Given the description of an element on the screen output the (x, y) to click on. 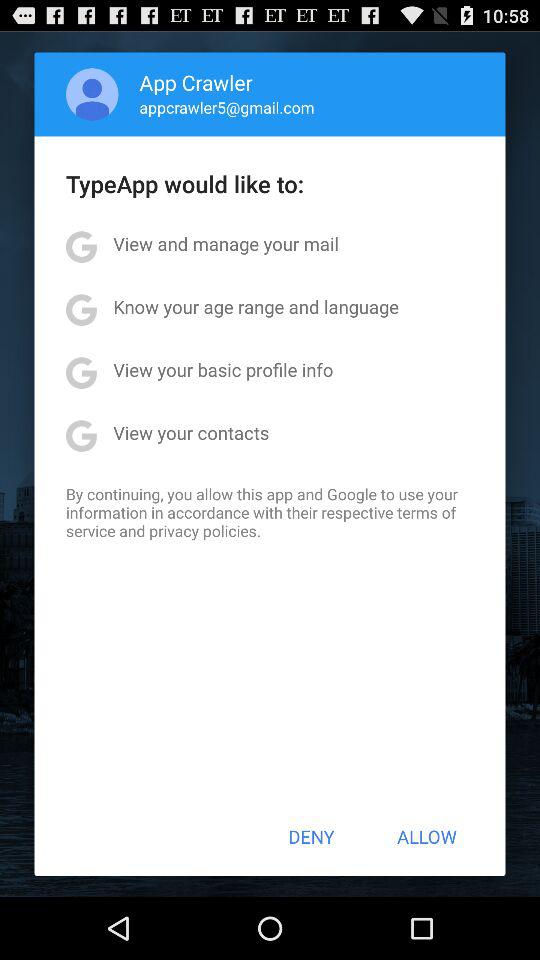
jump to the appcrawler5@gmail.com app (226, 107)
